Given the description of an element on the screen output the (x, y) to click on. 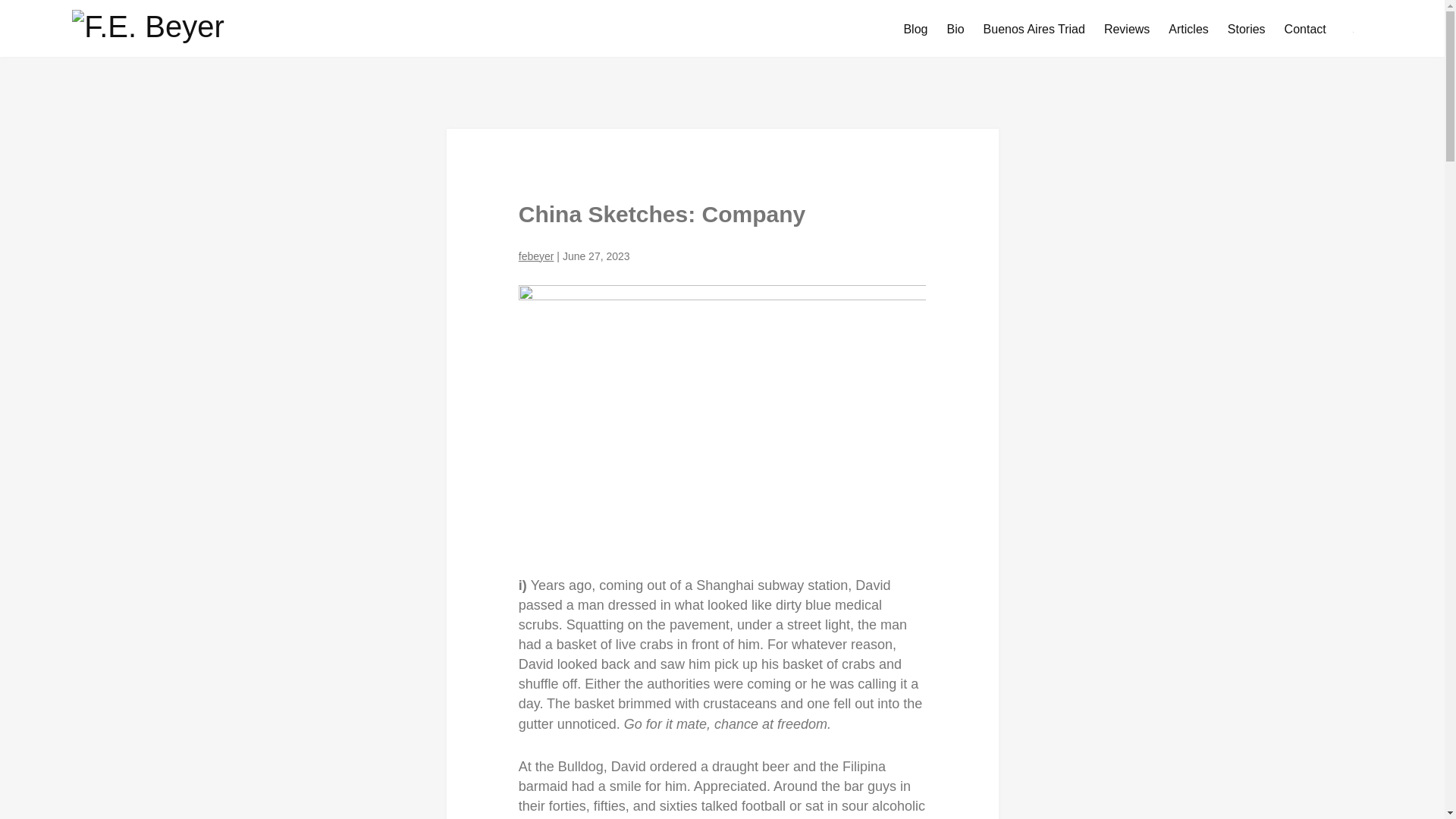
China Sketches: Company (661, 213)
F.E. Beyer (147, 27)
Posts by febeyer (536, 256)
F.E. Beyer (147, 27)
Stories (1246, 32)
Articles (1188, 32)
Contact (1305, 32)
China Sketches: Company (661, 213)
febeyer (536, 256)
Buenos Aires Triad (1034, 32)
June 27, 2023 (596, 256)
China Sketches: Company (722, 418)
Reviews (1126, 32)
